Given the description of an element on the screen output the (x, y) to click on. 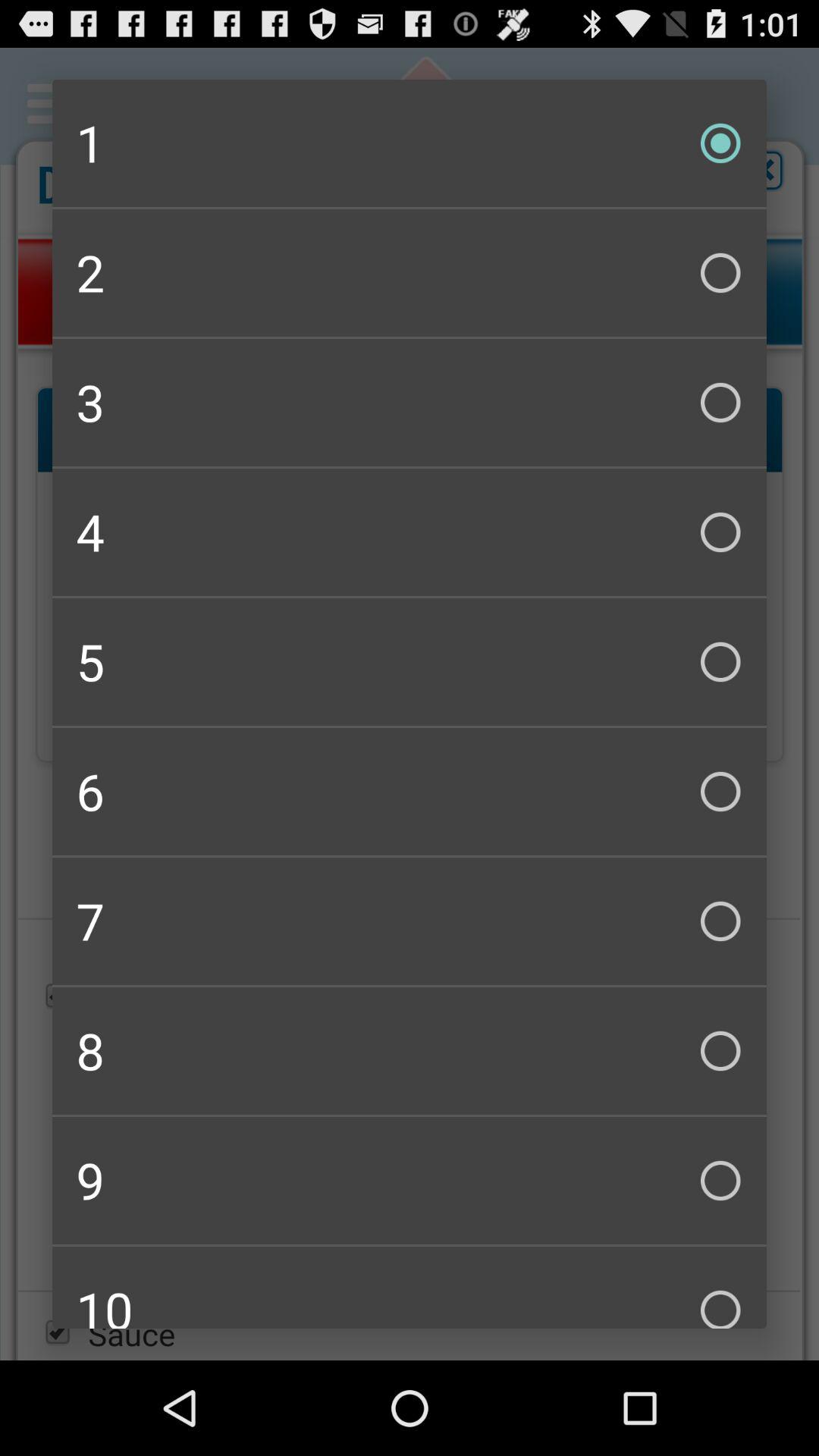
swipe until 7 checkbox (409, 921)
